Given the description of an element on the screen output the (x, y) to click on. 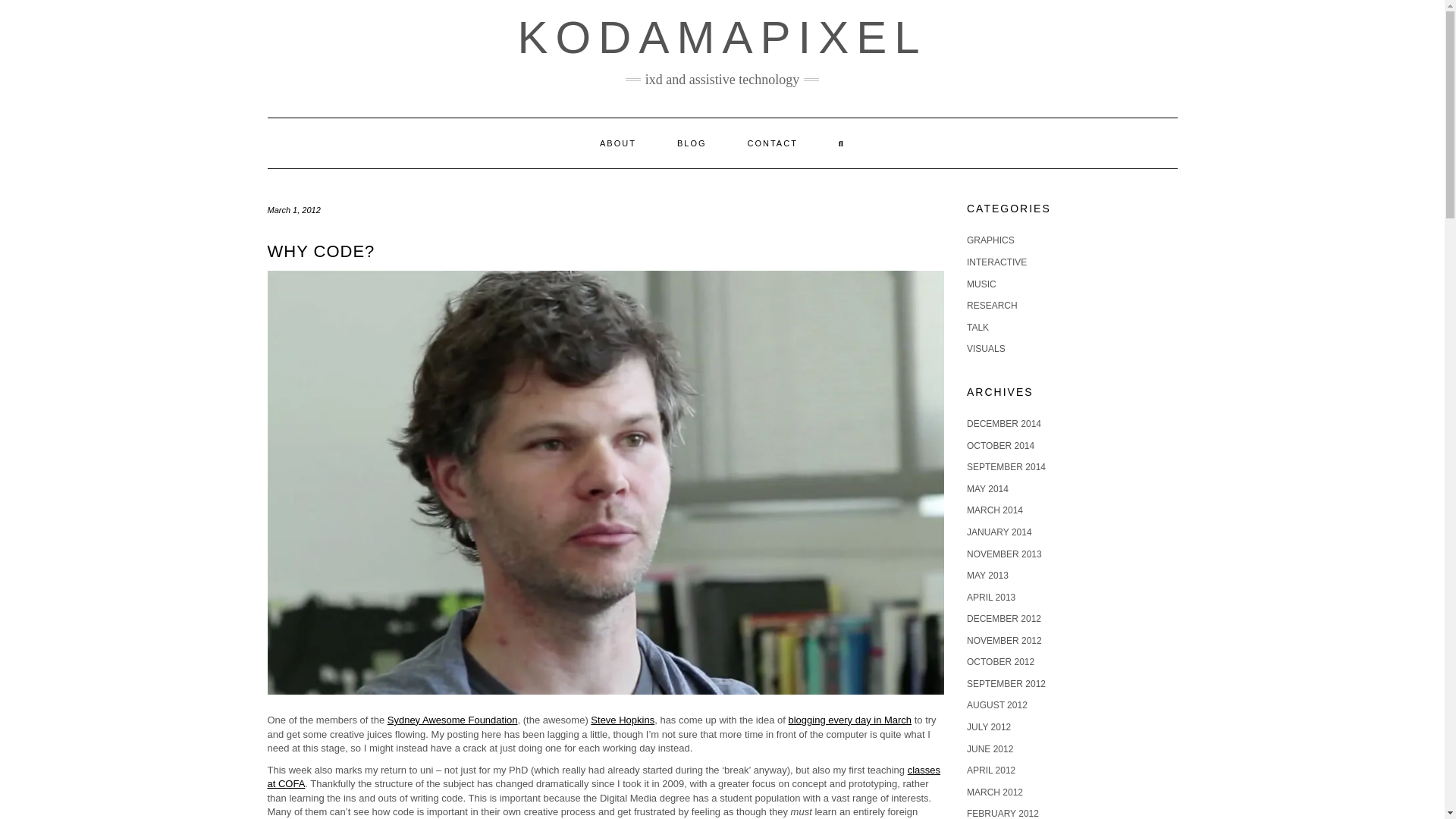
BLOG (691, 142)
VISUALS (986, 348)
KODAMAPIXEL (721, 37)
GRAPHICS (990, 240)
JANUARY 2014 (999, 532)
classes at COFA (603, 777)
SEPTEMBER 2014 (1005, 466)
NOVEMBER 2013 (1004, 553)
TALK (977, 327)
MUSIC (980, 284)
MAY 2013 (987, 575)
OCTOBER 2014 (999, 445)
MAY 2014 (987, 489)
Sydney Awesome Foundation (452, 719)
DECEMBER 2014 (1003, 423)
